Given the description of an element on the screen output the (x, y) to click on. 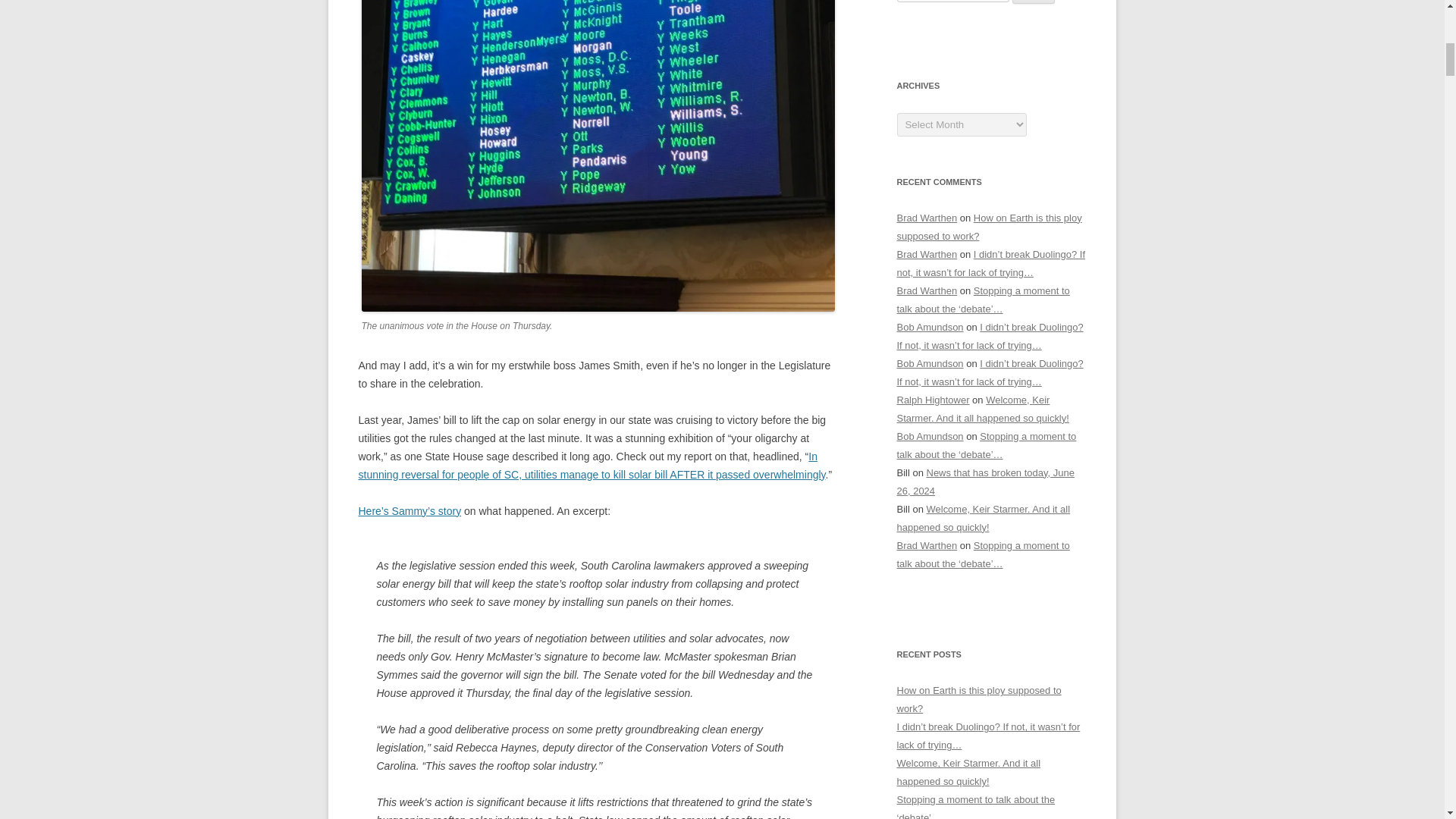
Search (1033, 2)
